Given the description of an element on the screen output the (x, y) to click on. 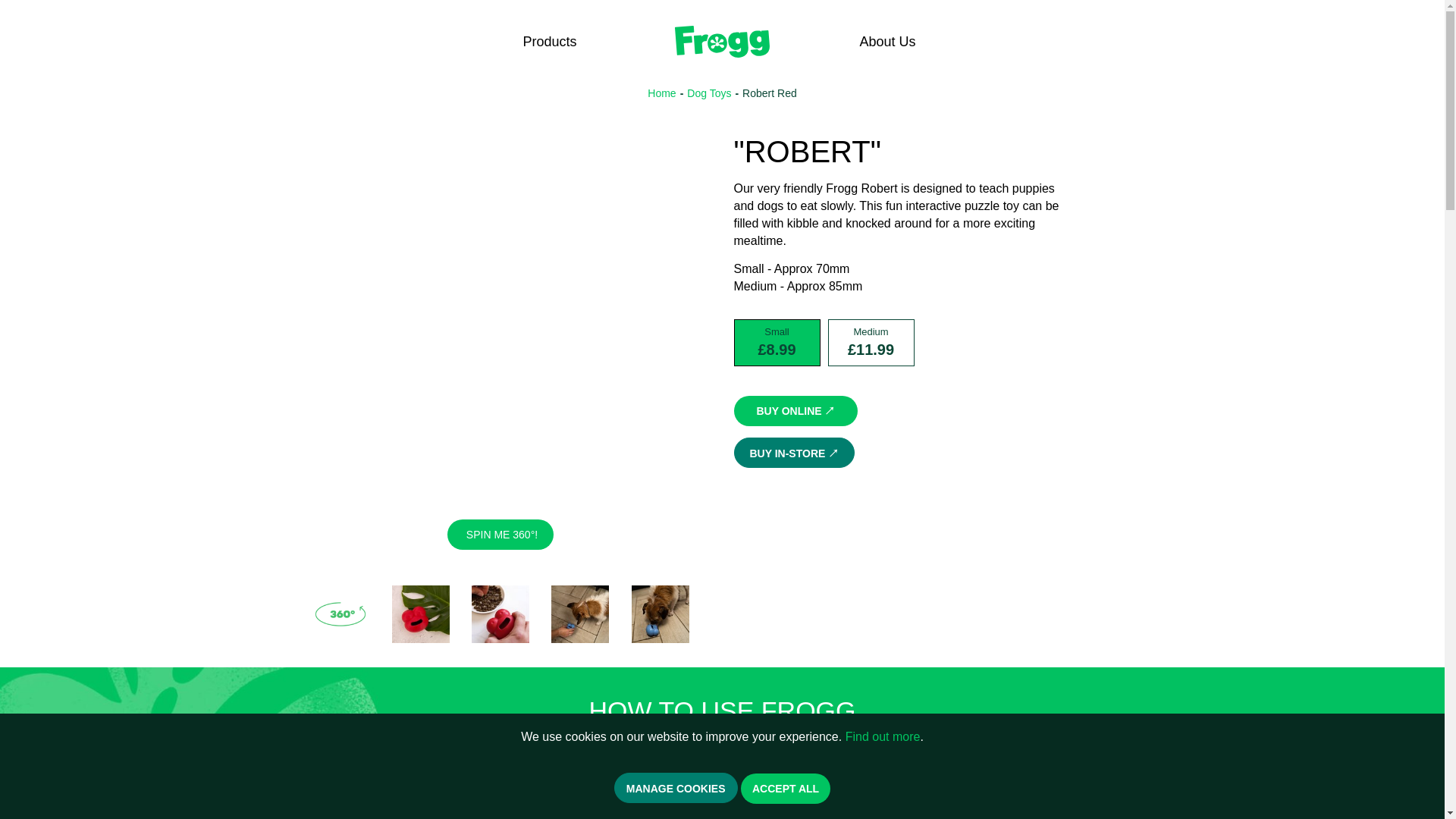
Frogg (721, 41)
Our Range (549, 41)
Dog Toys (708, 92)
About Us (896, 41)
Home (661, 92)
About Us (896, 41)
Products (549, 41)
